Given the description of an element on the screen output the (x, y) to click on. 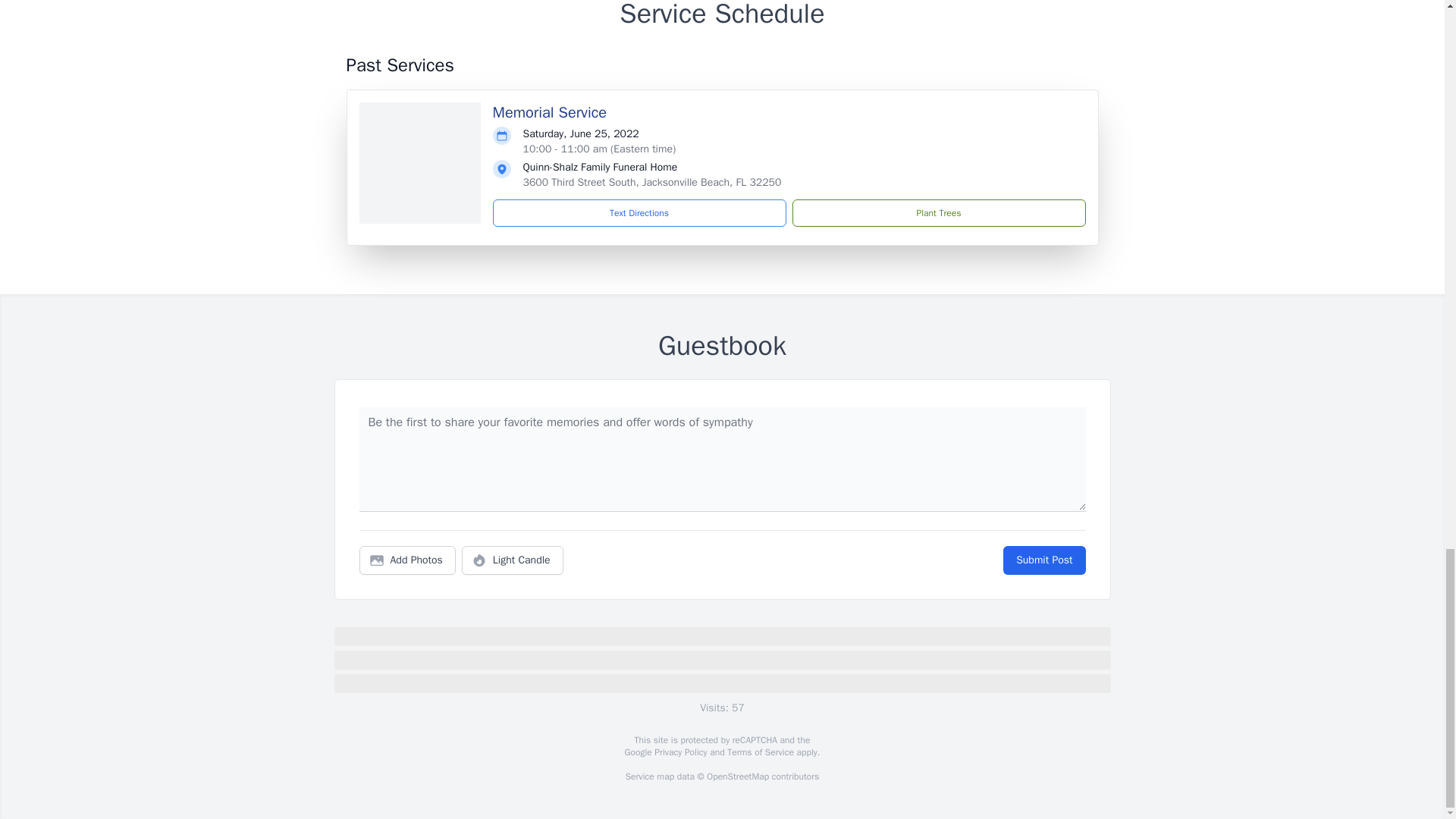
Light Candle (512, 560)
OpenStreetMap (737, 776)
Privacy Policy (679, 752)
Terms of Service (759, 752)
Add Photos (407, 560)
Plant Trees (938, 212)
Submit Post (1043, 560)
3600 Third Street South, Jacksonville Beach, FL 32250 (651, 182)
Text Directions (639, 212)
